Given the description of an element on the screen output the (x, y) to click on. 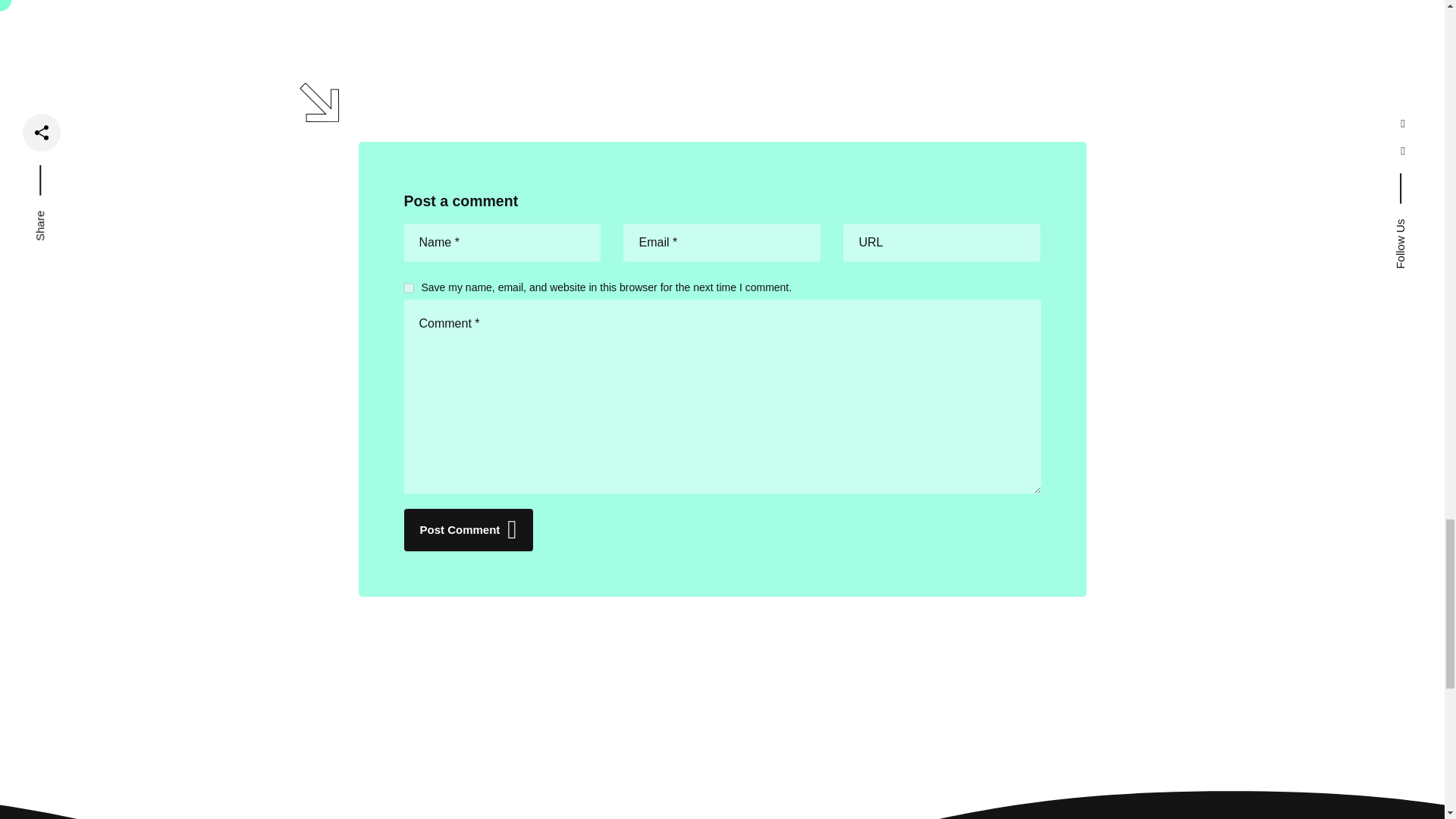
Post Comment (467, 529)
